Given the description of an element on the screen output the (x, y) to click on. 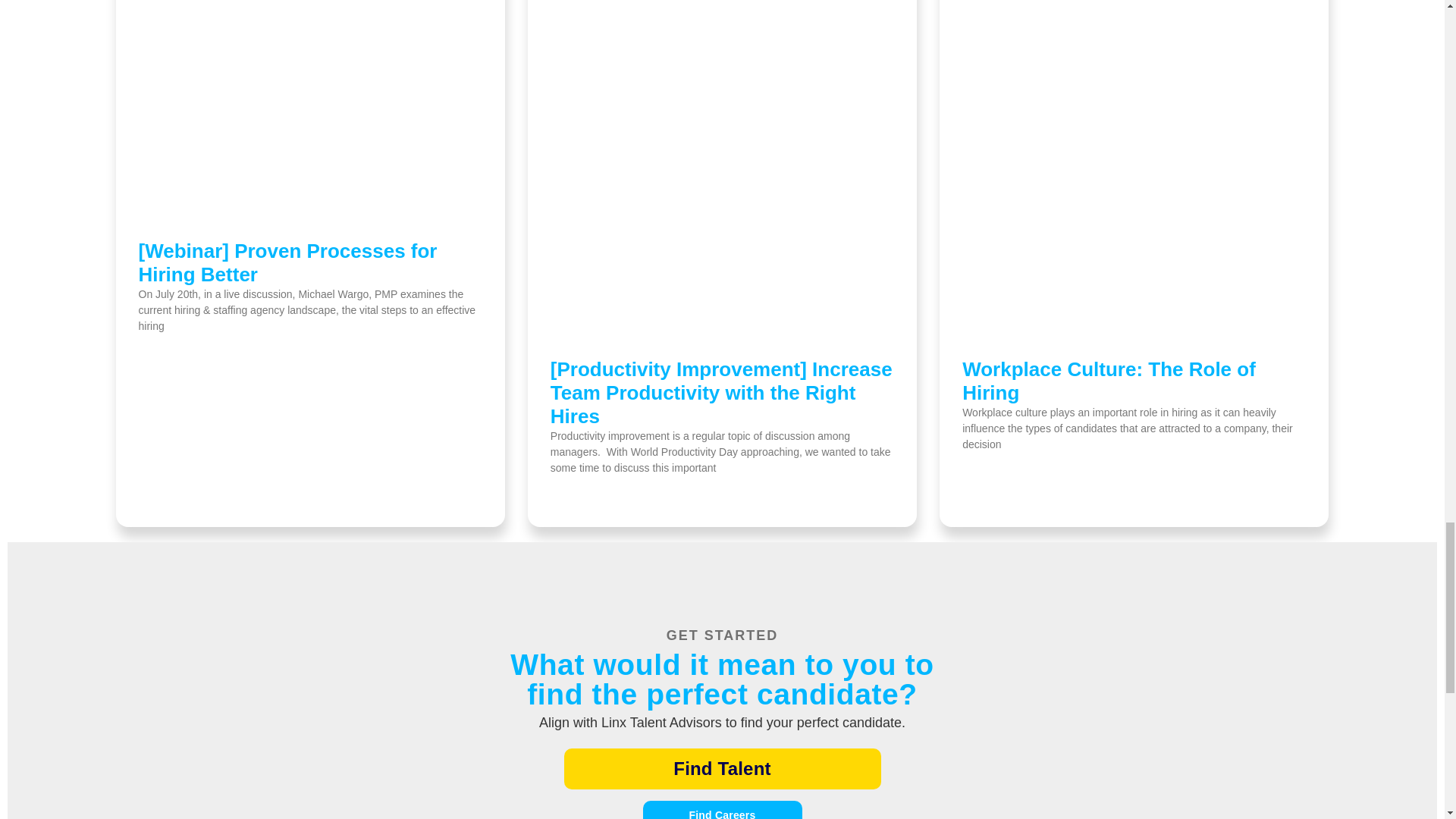
Workplace Culture: The Role of Hiring (1108, 380)
Read More (985, 471)
Read More (573, 494)
Read More (161, 353)
Find Talent (722, 768)
